Given the description of an element on the screen output the (x, y) to click on. 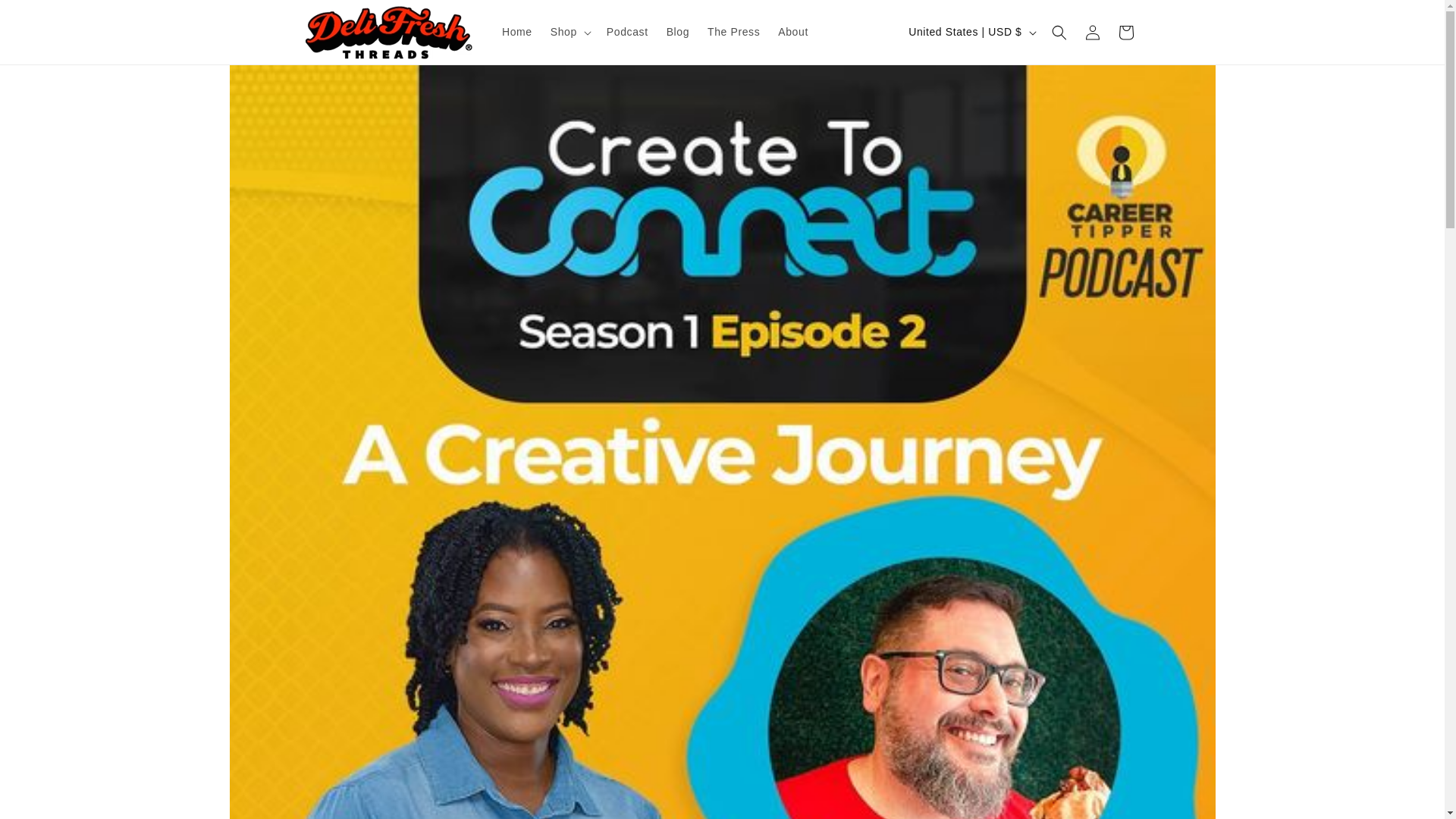
Home (517, 31)
About (792, 31)
Podcast (627, 31)
Blog (678, 31)
Skip to content (45, 17)
The Press (733, 31)
